Given the description of an element on the screen output the (x, y) to click on. 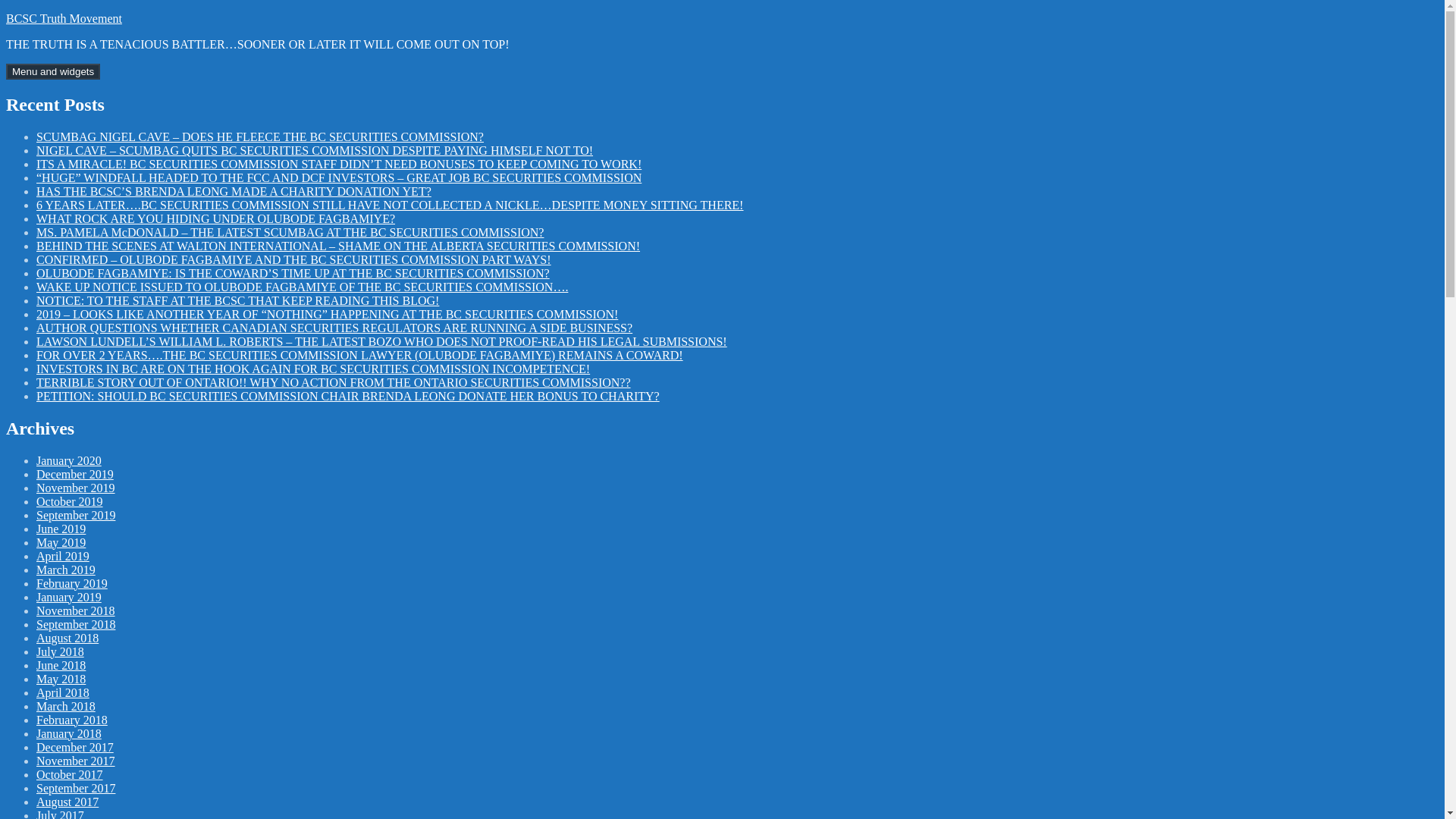
March 2019 (66, 569)
July 2018 (60, 651)
November 2019 (75, 487)
November 2018 (75, 610)
WHAT ROCK ARE YOU HIDING UNDER OLUBODE FAGBAMIYE? (215, 218)
January 2019 (68, 596)
Menu and widgets (52, 71)
February 2019 (71, 583)
